Given the description of an element on the screen output the (x, y) to click on. 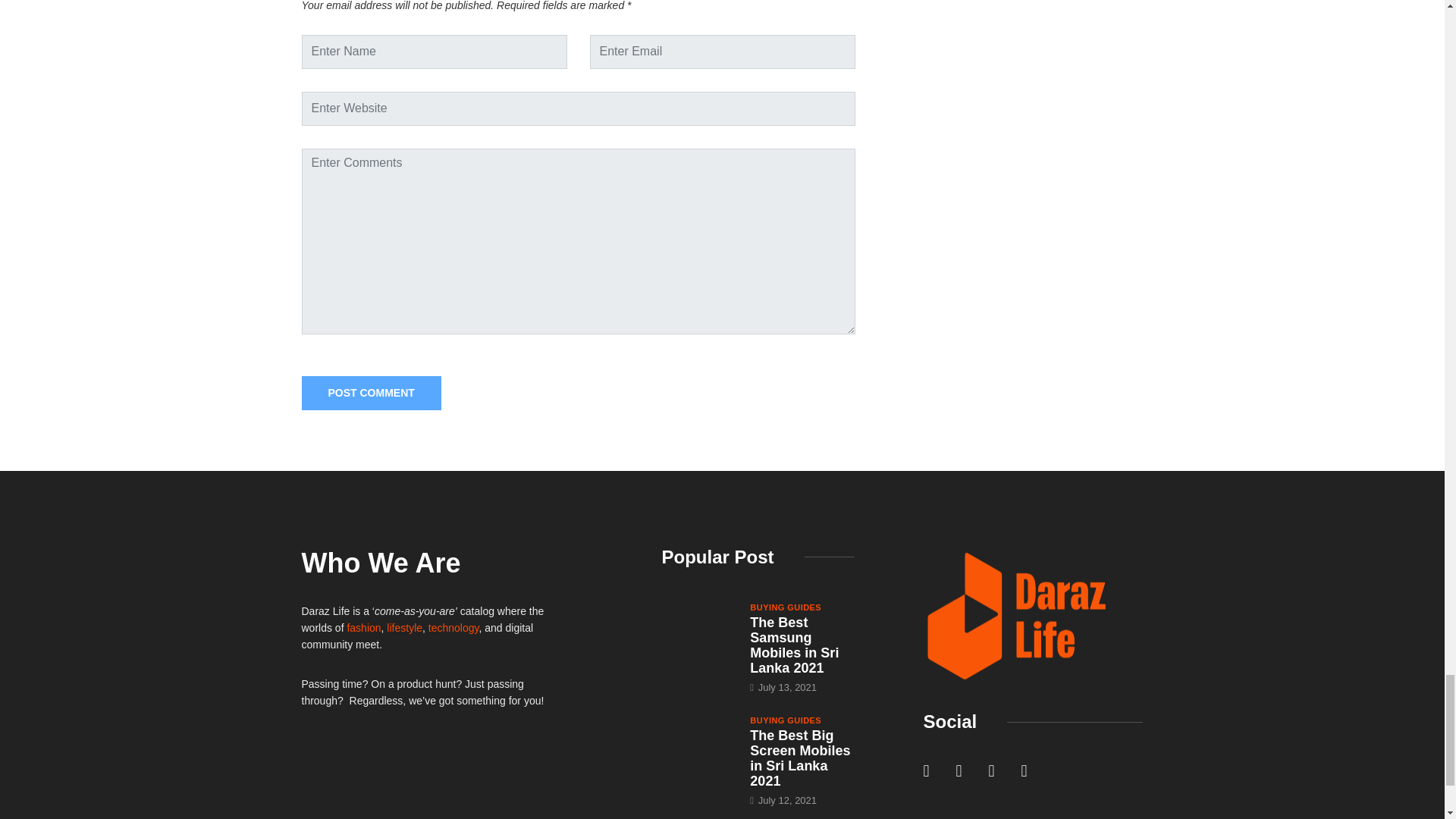
The Best Big Screen Mobiles in Sri Lanka 2021 (698, 740)
The Best Big Screen Mobiles in Sri Lanka 2021 (799, 758)
The Best Samsung Mobiles in Sri Lanka 2021 (698, 627)
The Best Samsung Mobiles in Sri Lanka 2021 (793, 645)
Post Comment (371, 392)
